Given the description of an element on the screen output the (x, y) to click on. 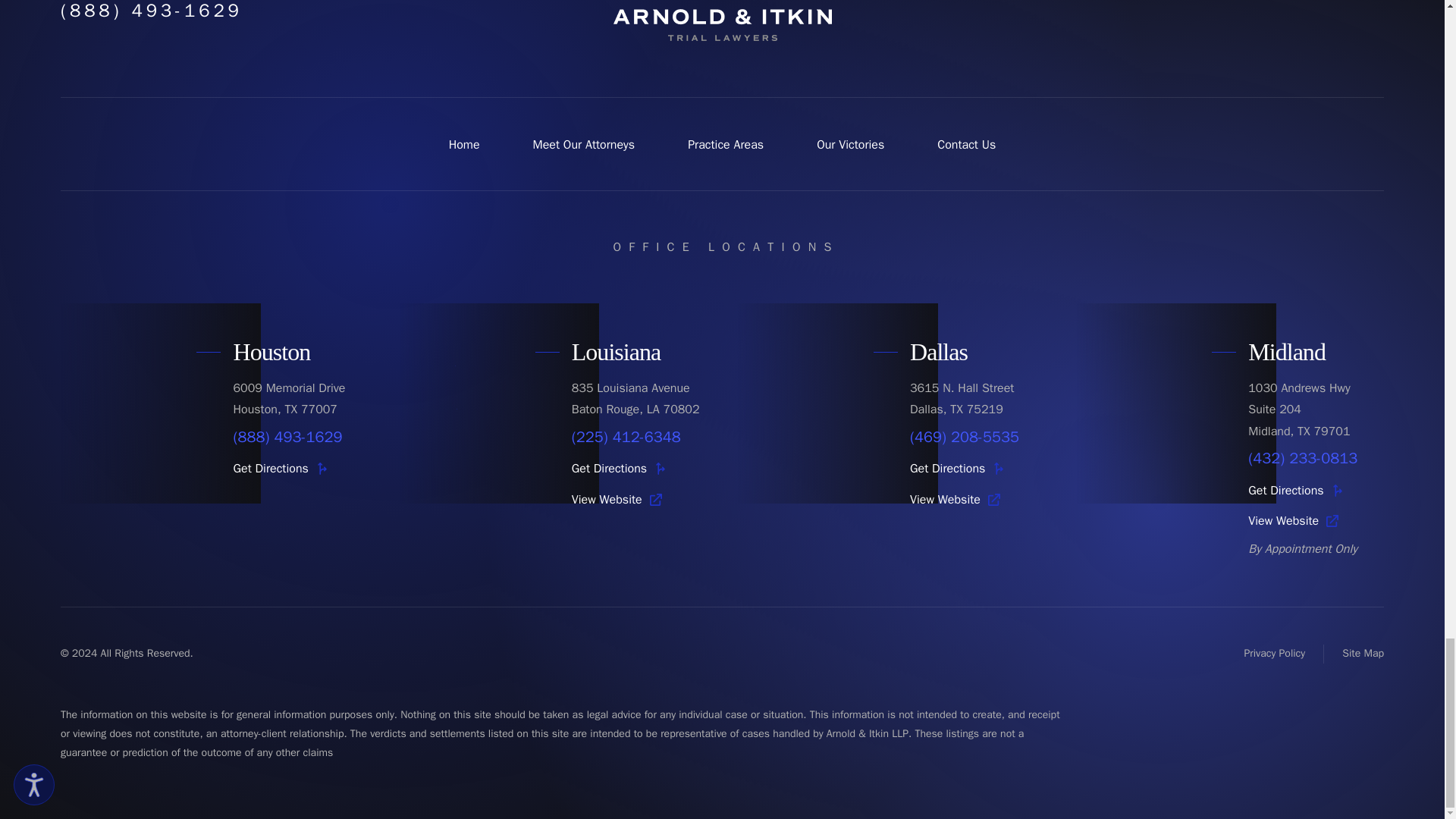
Instagram (1331, 4)
Twitter (1261, 4)
YouTube (1296, 4)
LinkedIn (1366, 4)
Facebook (1227, 4)
